Given the description of an element on the screen output the (x, y) to click on. 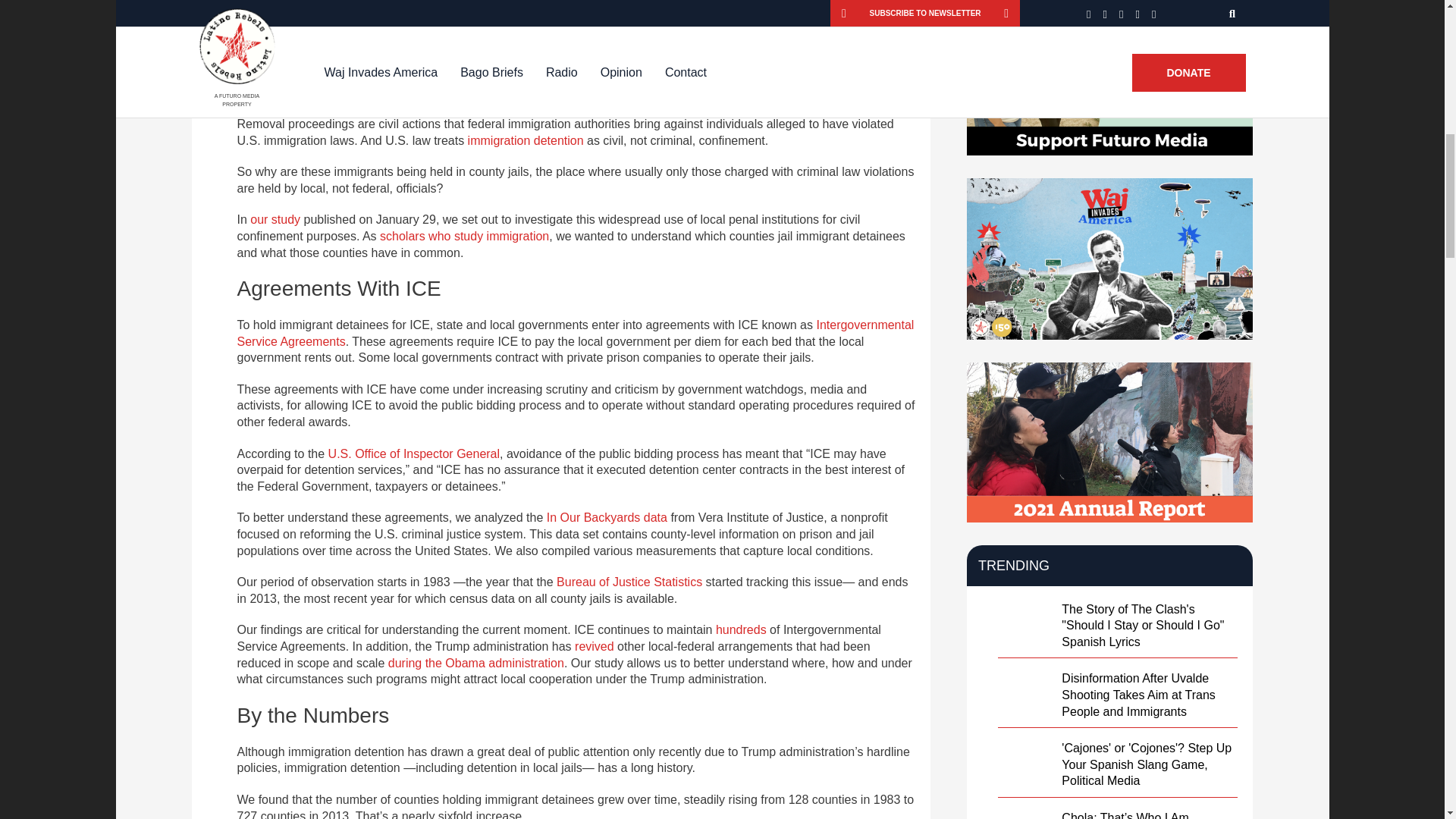
our study (274, 219)
immigration detention (525, 140)
Bureau of Justice Statistics (628, 581)
U.S. Office of Inspector General (414, 453)
In Our Backyards data (606, 517)
revived (594, 645)
Intergovernmental Service Agreements (574, 333)
Theo Lacy Facility (491, 28)
hundreds (741, 629)
scholars who study immigration (464, 236)
